Given the description of an element on the screen output the (x, y) to click on. 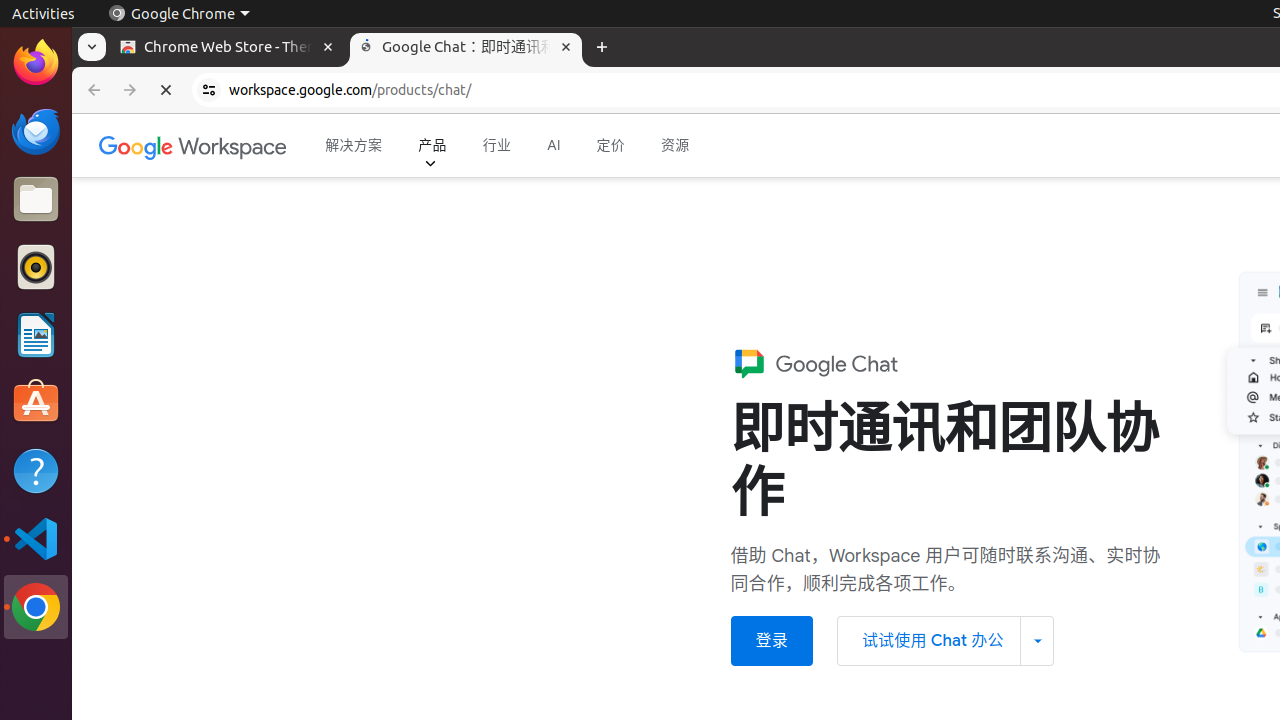
Google Chrome Element type: menu (179, 13)
AI Element type: link (554, 146)
试试使用 Chat 办公 Element type: toggle-button (945, 641)
View site information Element type: push-button (209, 90)
解决方案 Element type: push-button (354, 146)
